Given the description of an element on the screen output the (x, y) to click on. 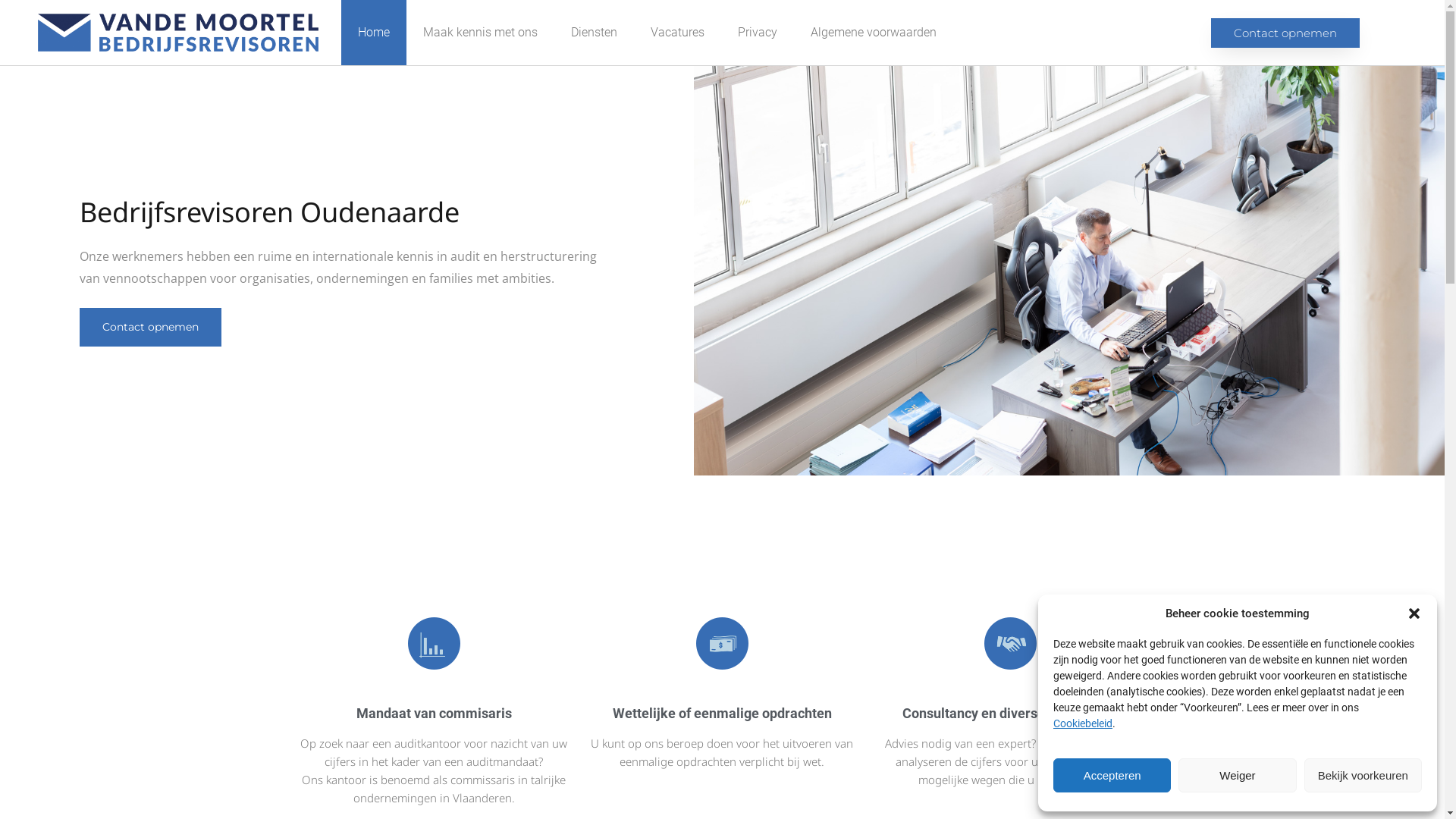
Privacy Element type: text (757, 32)
Maak kennis met ons Element type: text (480, 32)
Wettelijke of eenmalige opdrachten Element type: text (721, 713)
Accepteren Element type: text (1111, 775)
Algemene voorwaarden Element type: text (873, 32)
Bekijk voorkeuren Element type: text (1362, 775)
Contact opnemen Element type: text (150, 326)
Contact opnemen Element type: text (1285, 32)
Cookiebeleid Element type: text (1082, 723)
Diensten Element type: text (593, 32)
Consultancy en diverse opdrachten Element type: text (1009, 713)
Vacatures Element type: text (677, 32)
Weiger Element type: text (1236, 775)
Home Element type: text (373, 32)
Mandaat van commisaris Element type: text (433, 713)
